Given the description of an element on the screen output the (x, y) to click on. 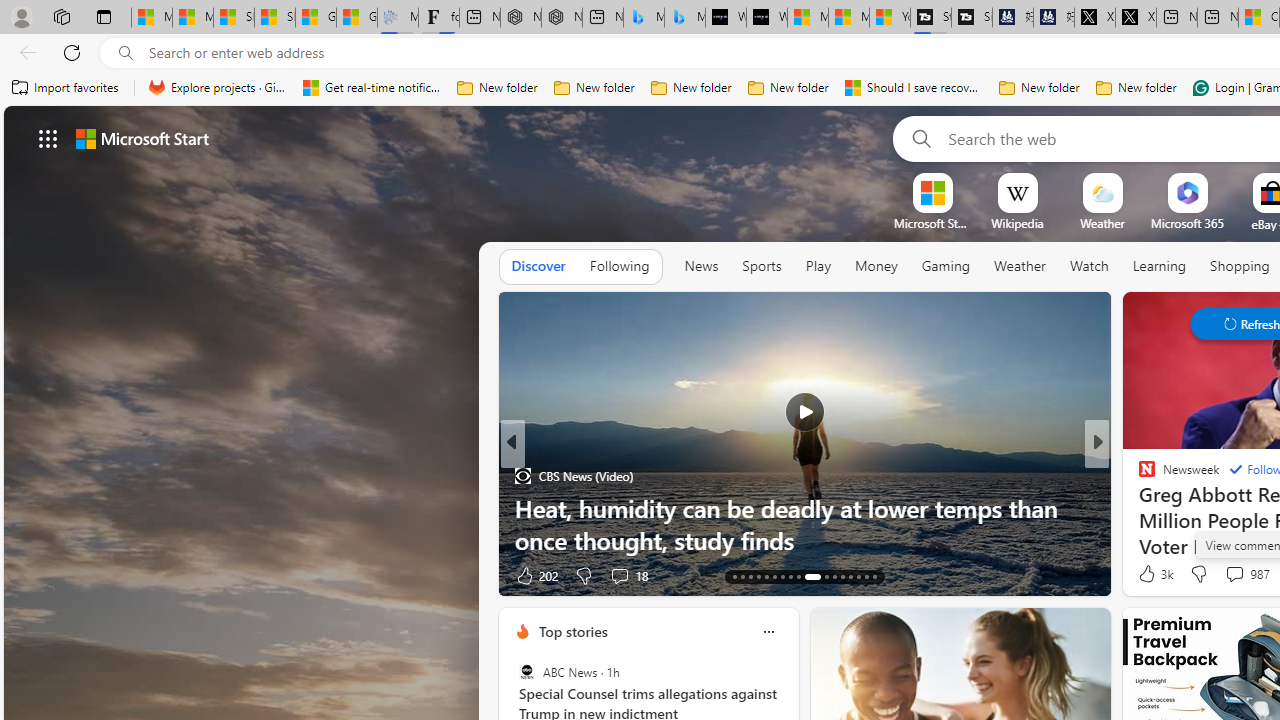
View comments 987 Comment (1234, 573)
Weather (1019, 267)
Top stories (572, 631)
Sports (761, 267)
View comments 17 Comment (1244, 574)
AutomationID: tab-25 (842, 576)
Following (619, 265)
AutomationID: tab-15 (750, 576)
Following (619, 267)
Money (875, 265)
AutomationID: tab-28 (865, 576)
Microsoft Bing Travel - Stays in Bangkok, Bangkok, Thailand (643, 17)
